Given the description of an element on the screen output the (x, y) to click on. 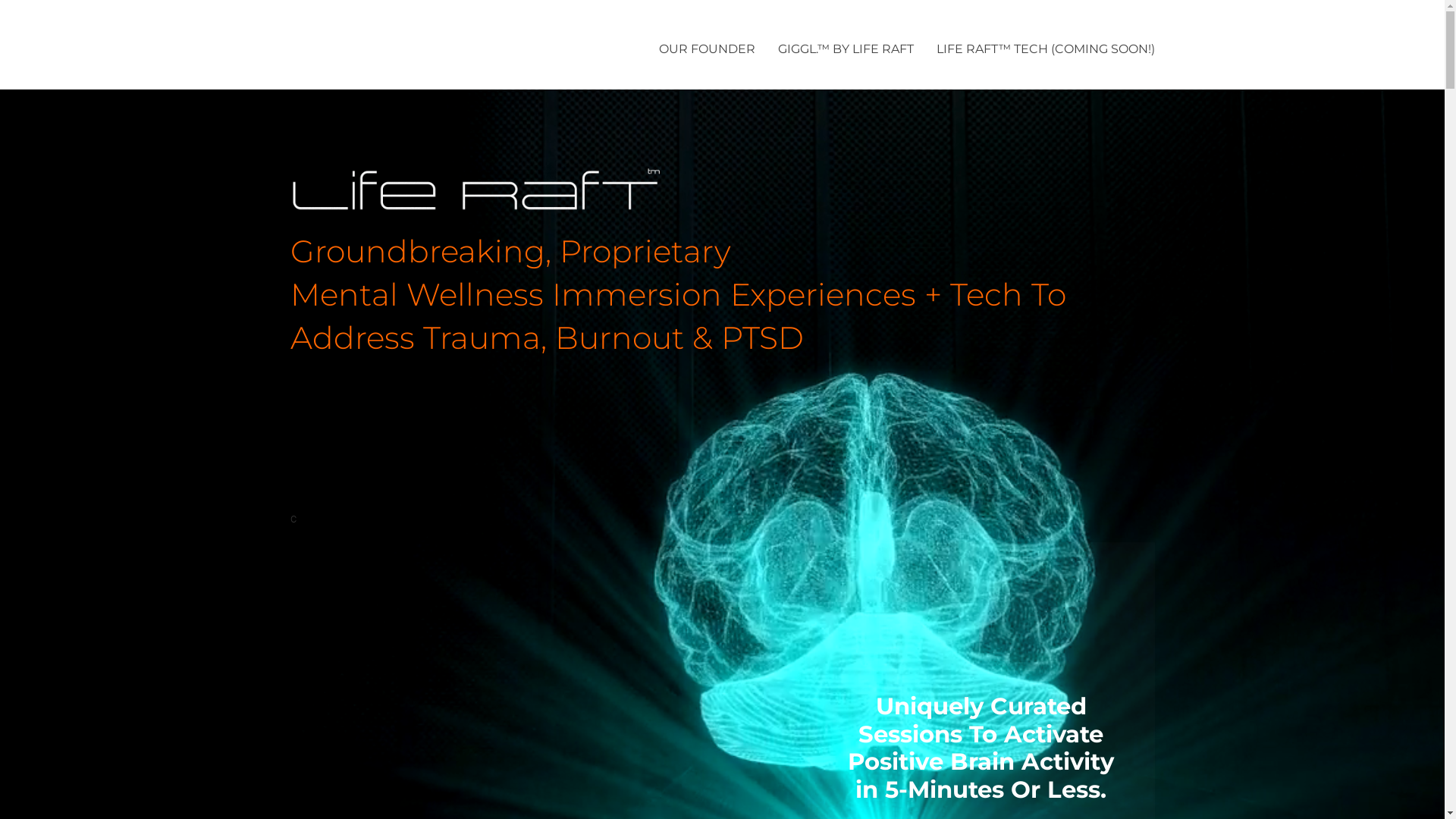
OUR FOUNDER Element type: text (706, 50)
